Given the description of an element on the screen output the (x, y) to click on. 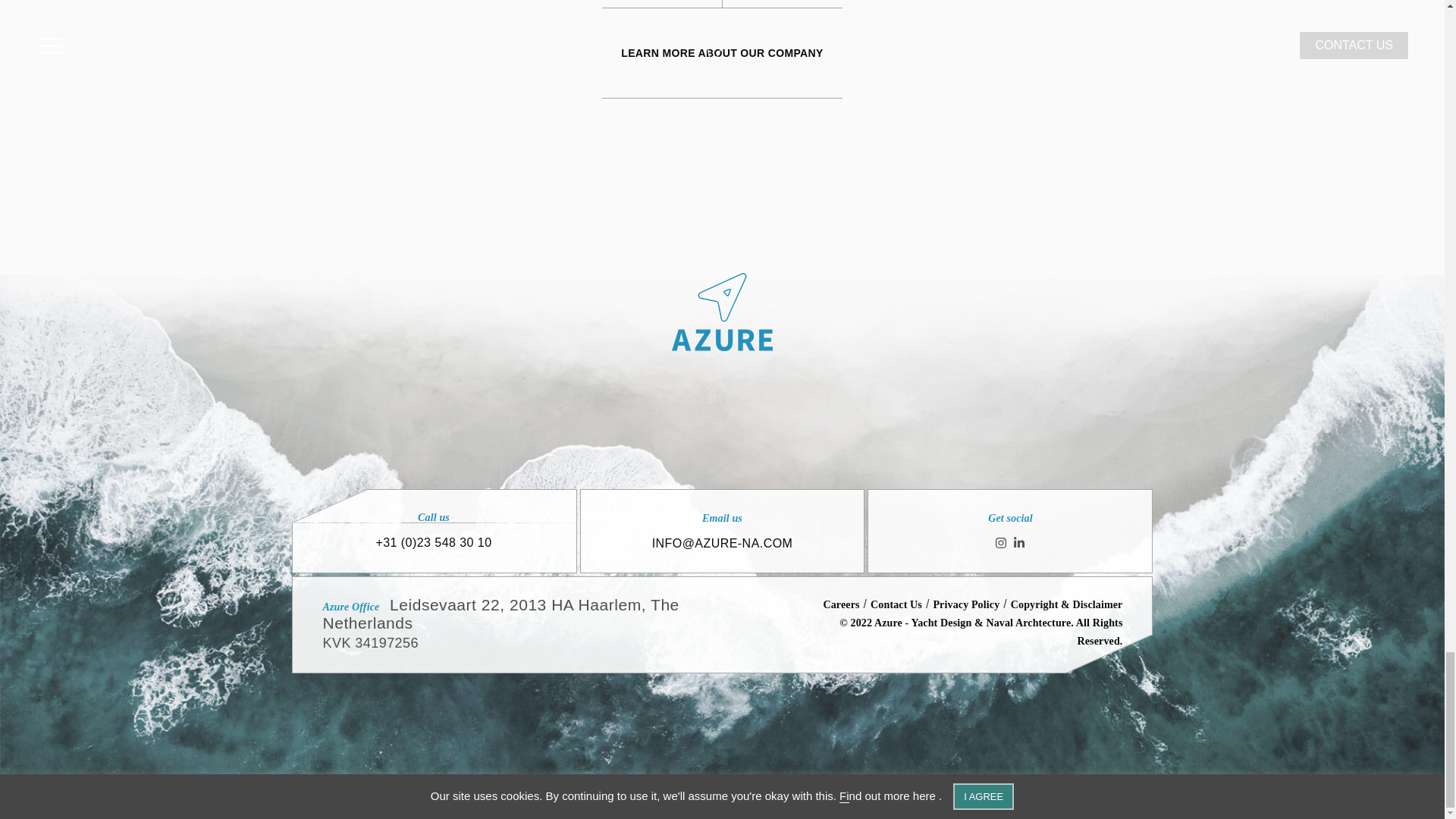
LEARN MORE ABOUT OUR COMPANY (721, 52)
Careers (840, 604)
Privacy Policy (965, 604)
learn more about our company (721, 52)
Contact Us (895, 604)
